Given the description of an element on the screen output the (x, y) to click on. 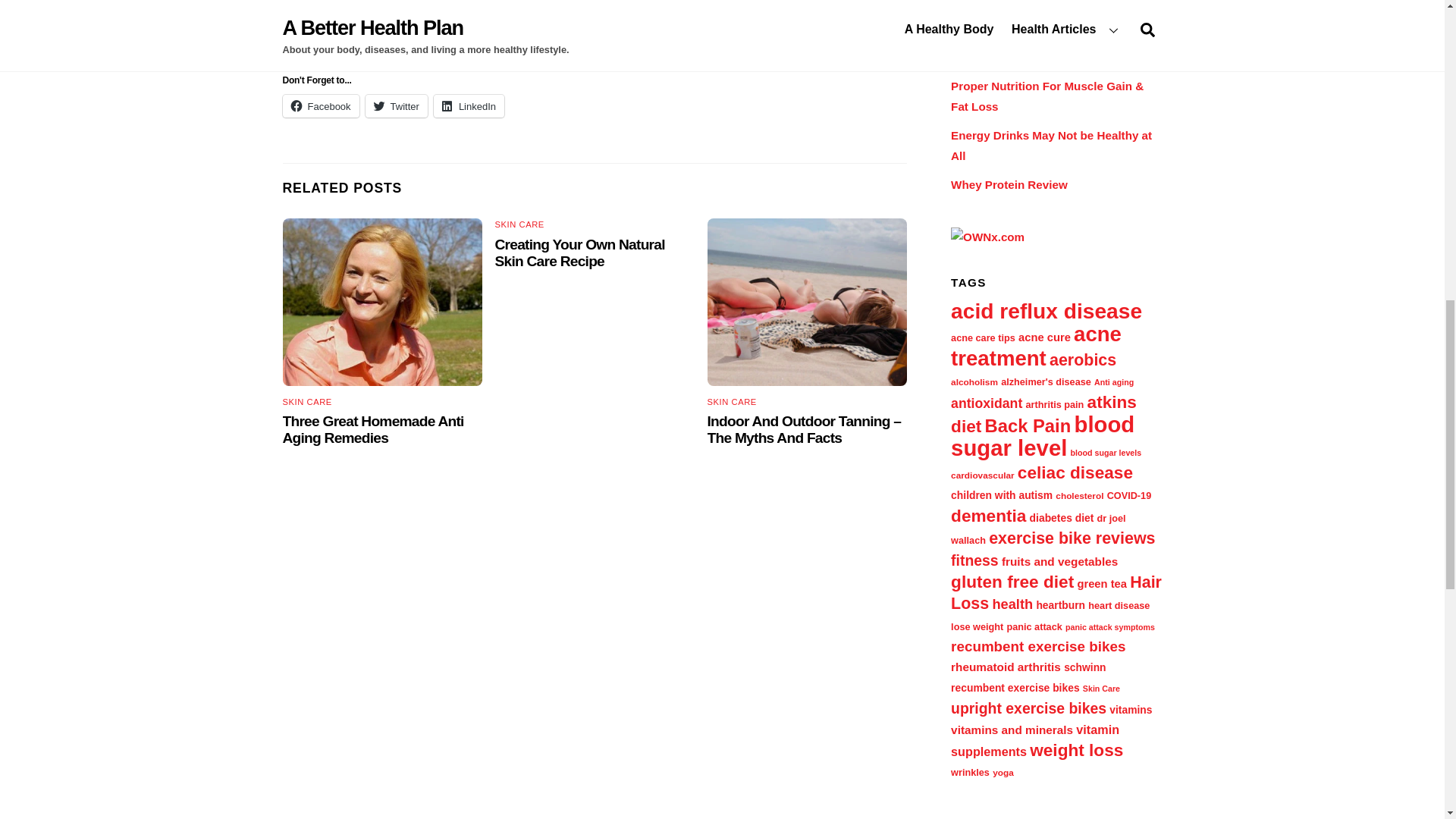
lifecell skin care (527, 18)
tanning (807, 301)
Click to share on LinkedIn (468, 106)
SKIN CARE (519, 224)
LinkedIn (468, 106)
Facebook (320, 106)
Creating Your Own Natural Skin Care Recipe (580, 252)
SKIN CARE (732, 401)
prevage (694, 38)
Click to share on Facebook (320, 106)
